Given the description of an element on the screen output the (x, y) to click on. 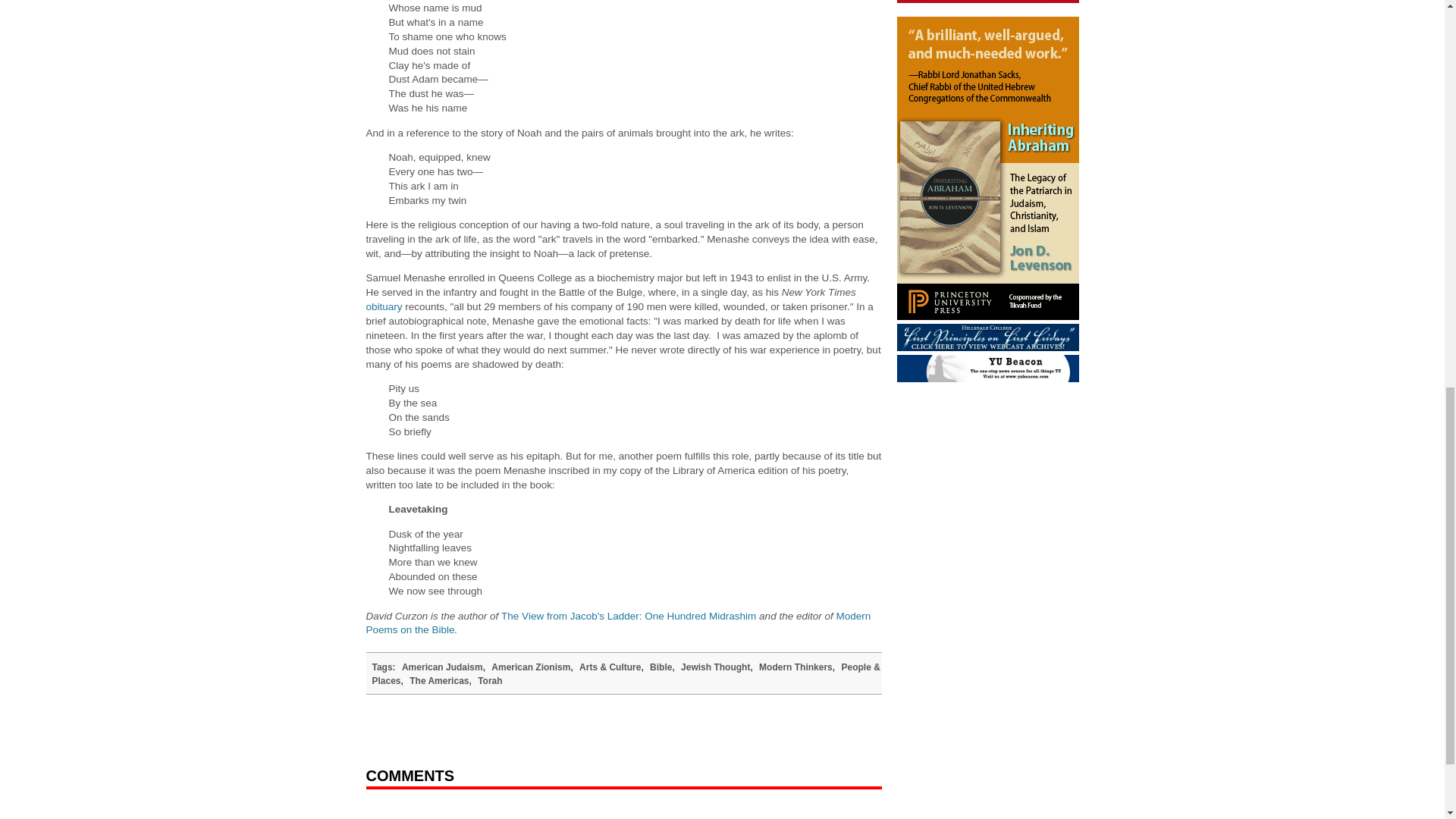
Bible (660, 666)
obituary (383, 306)
American Judaism (442, 666)
American Zionism (531, 666)
The Americas (438, 680)
Torah (489, 680)
